Given the description of an element on the screen output the (x, y) to click on. 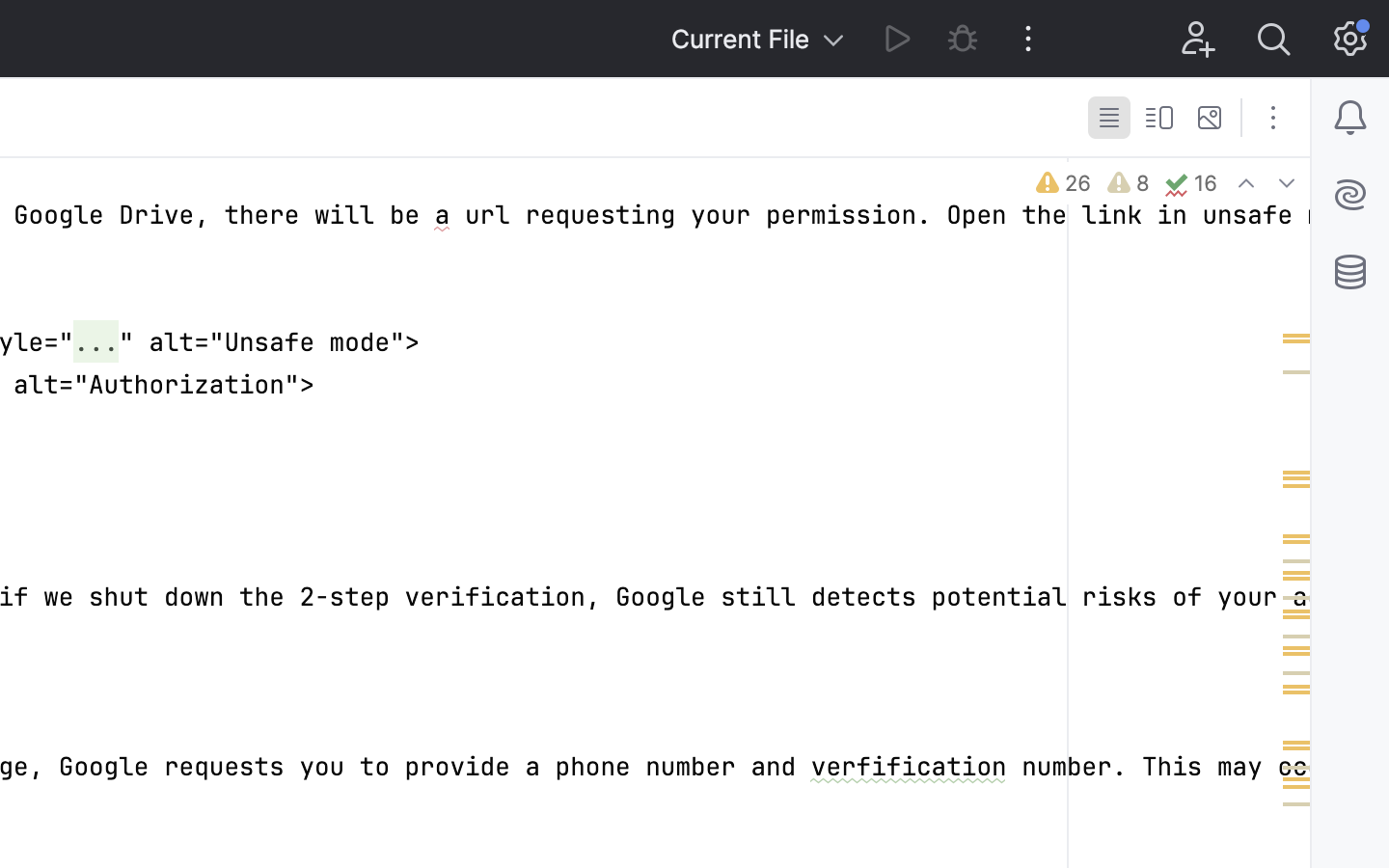
8 Element type: AXStaticText (1126, 182)
